Given the description of an element on the screen output the (x, y) to click on. 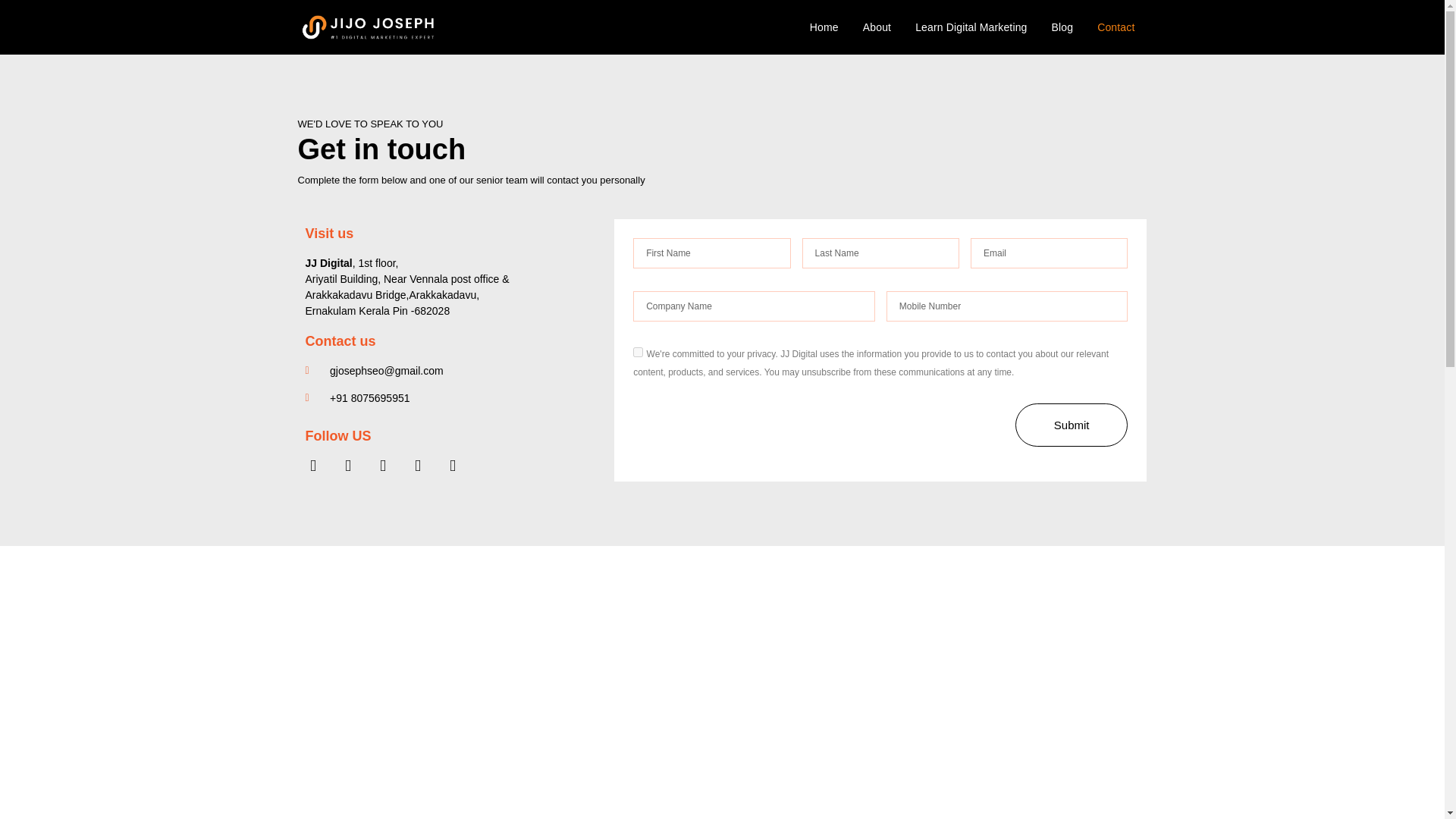
Blog (1062, 26)
Contact (1115, 26)
jijo joseph (488, 674)
Submit (1071, 424)
Learn Digital Marketing (970, 26)
Home (823, 26)
About (876, 26)
on (638, 352)
clear my course (917, 674)
